Given the description of an element on the screen output the (x, y) to click on. 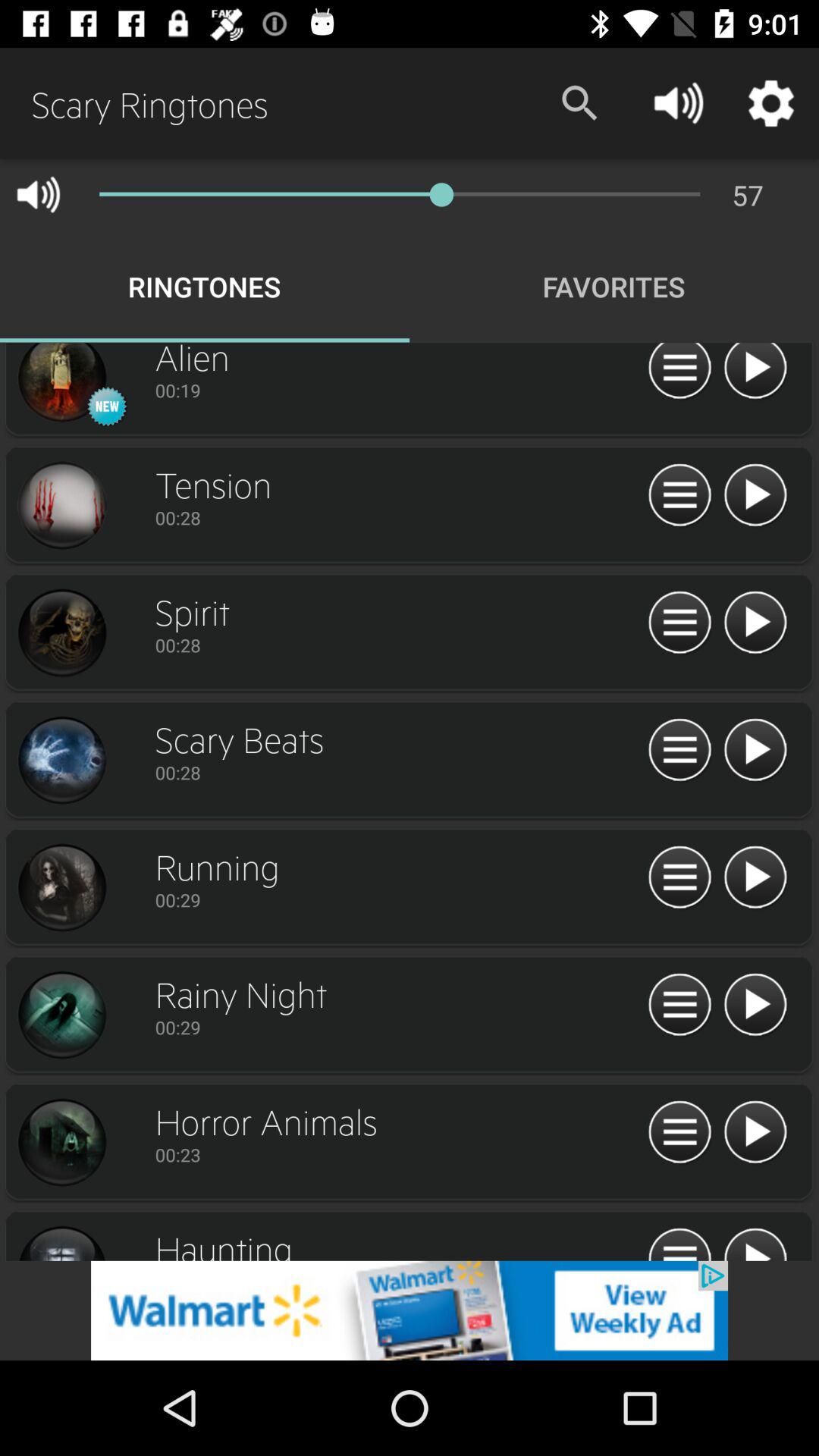
show track details (679, 1242)
